Given the description of an element on the screen output the (x, y) to click on. 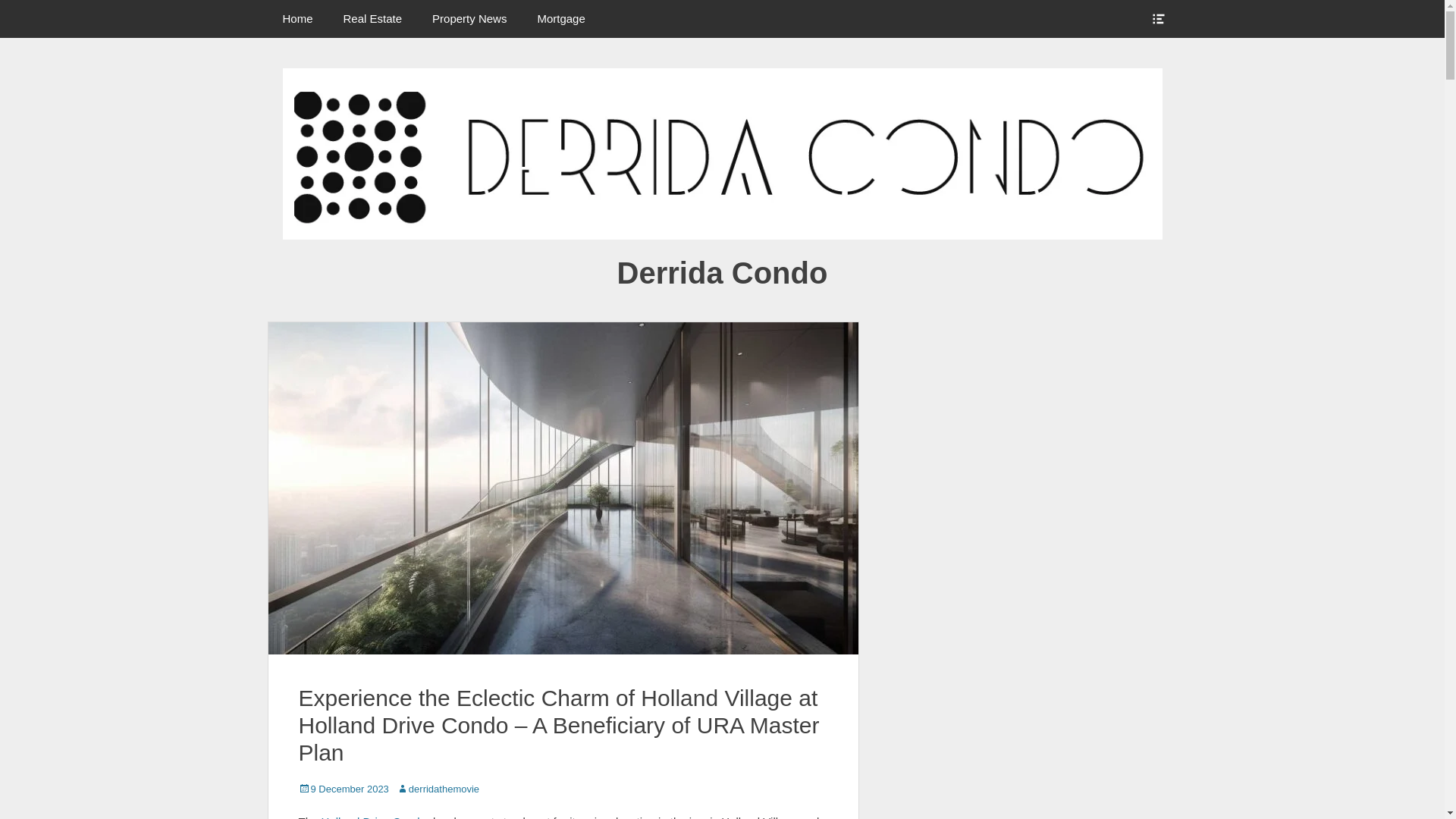
Show Header Sidebar Content (1157, 18)
derridathemovie (437, 788)
Holland Drive Condo (373, 816)
Real Estate (373, 18)
9 December 2023 (343, 788)
Property News (468, 18)
Home (296, 18)
Derrida Condo (722, 272)
Mortgage (560, 18)
